Given the description of an element on the screen output the (x, y) to click on. 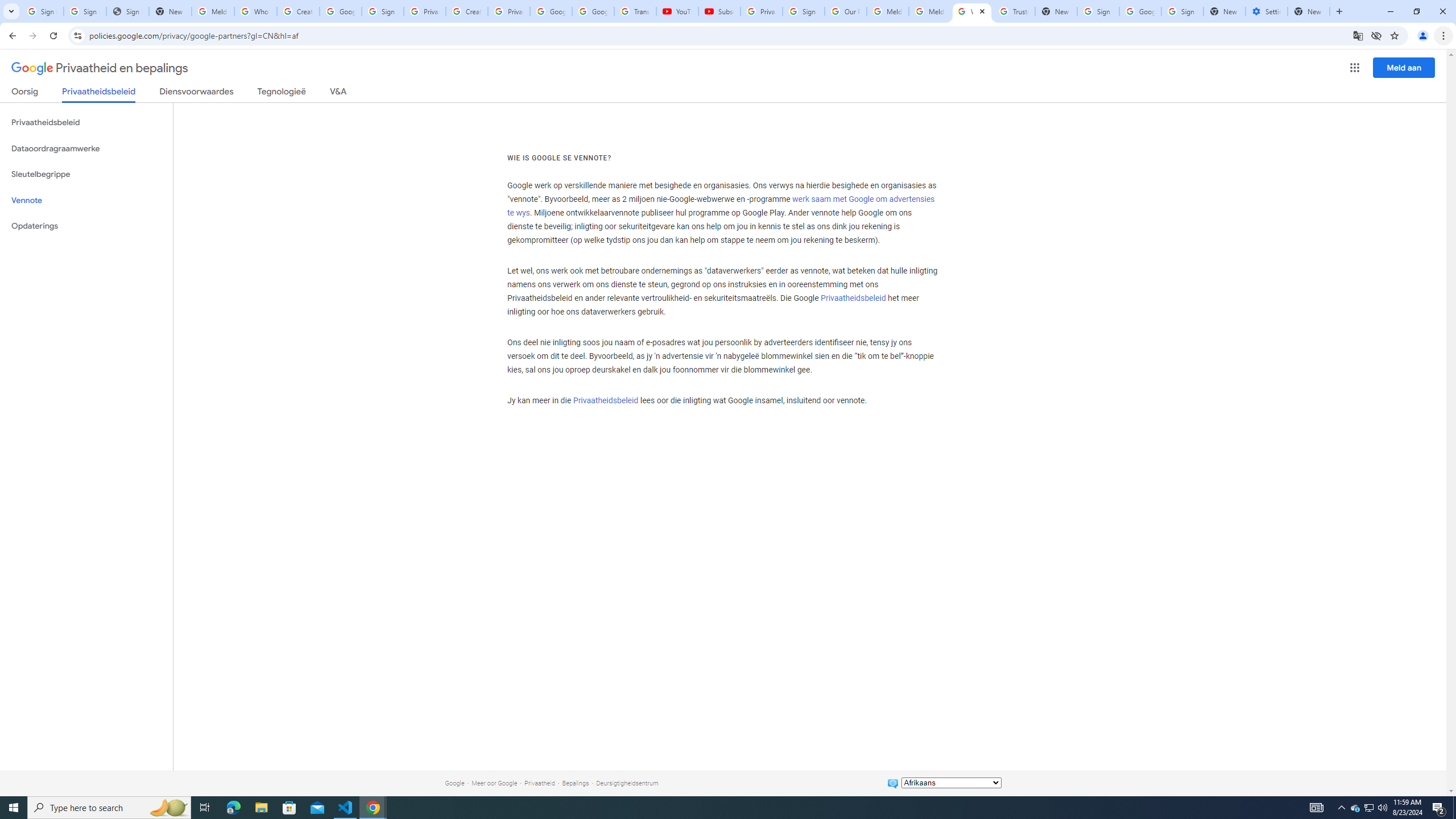
Opdaterings (86, 225)
Deursigtigheidsentrum (626, 783)
Verander taal: (951, 782)
Sign in - Google Accounts (1097, 11)
Settings - Addresses and more (1266, 11)
